Given the description of an element on the screen output the (x, y) to click on. 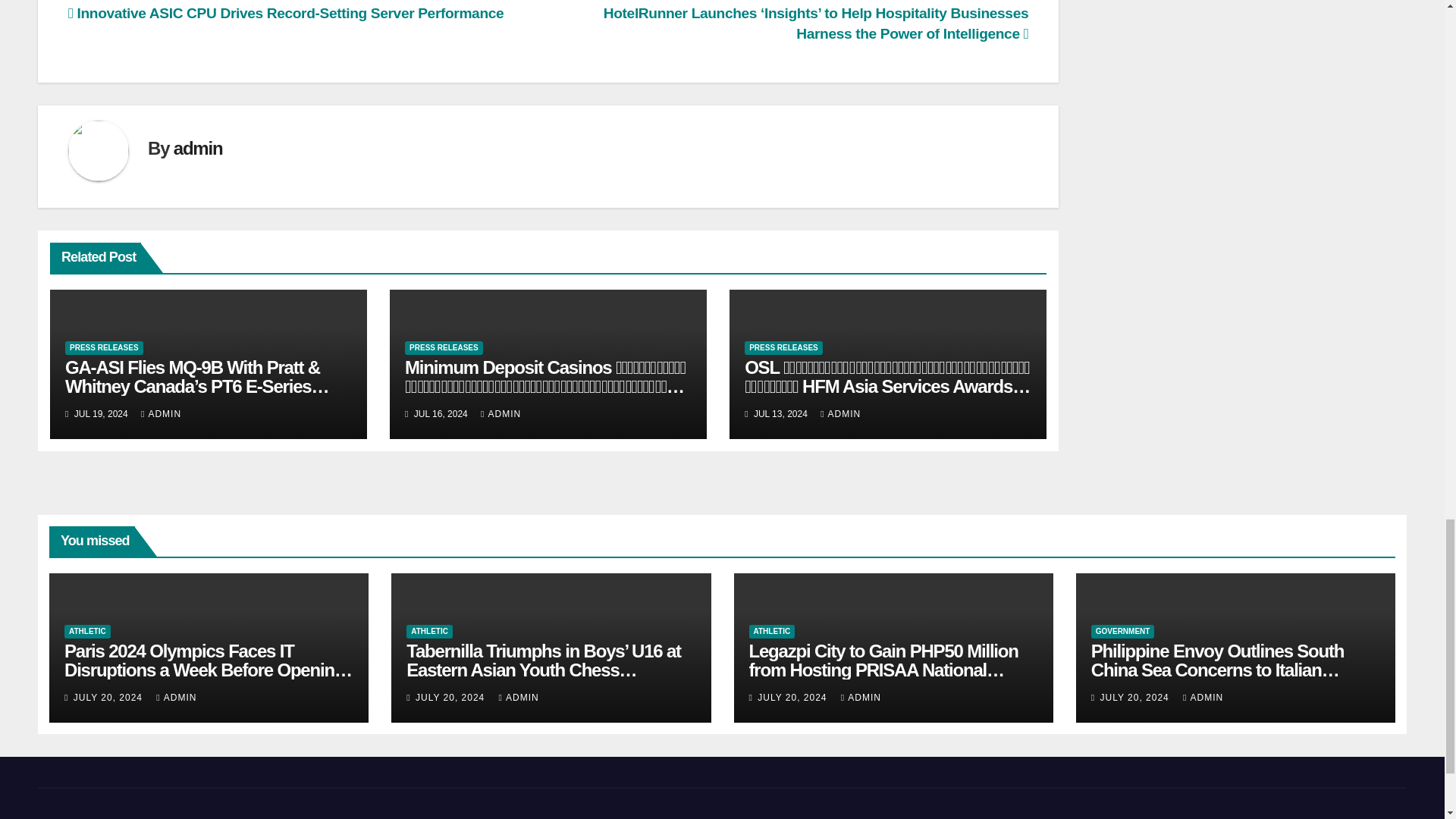
Innovative ASIC CPU Drives Record-Setting Server Performance (285, 12)
admin (197, 148)
